Given the description of an element on the screen output the (x, y) to click on. 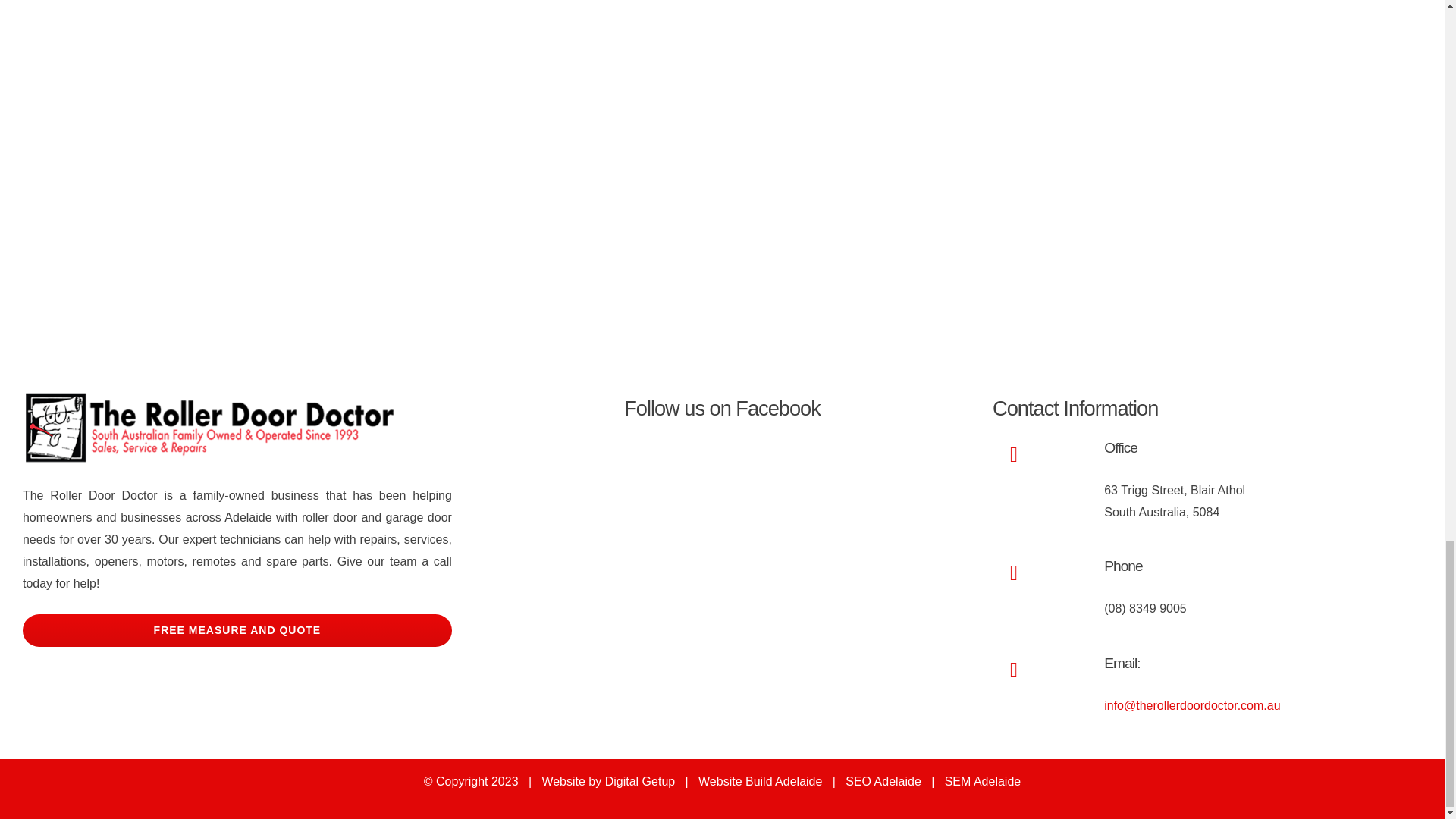
The Roller Door Doctor logo new 2 (212, 427)
